Given the description of an element on the screen output the (x, y) to click on. 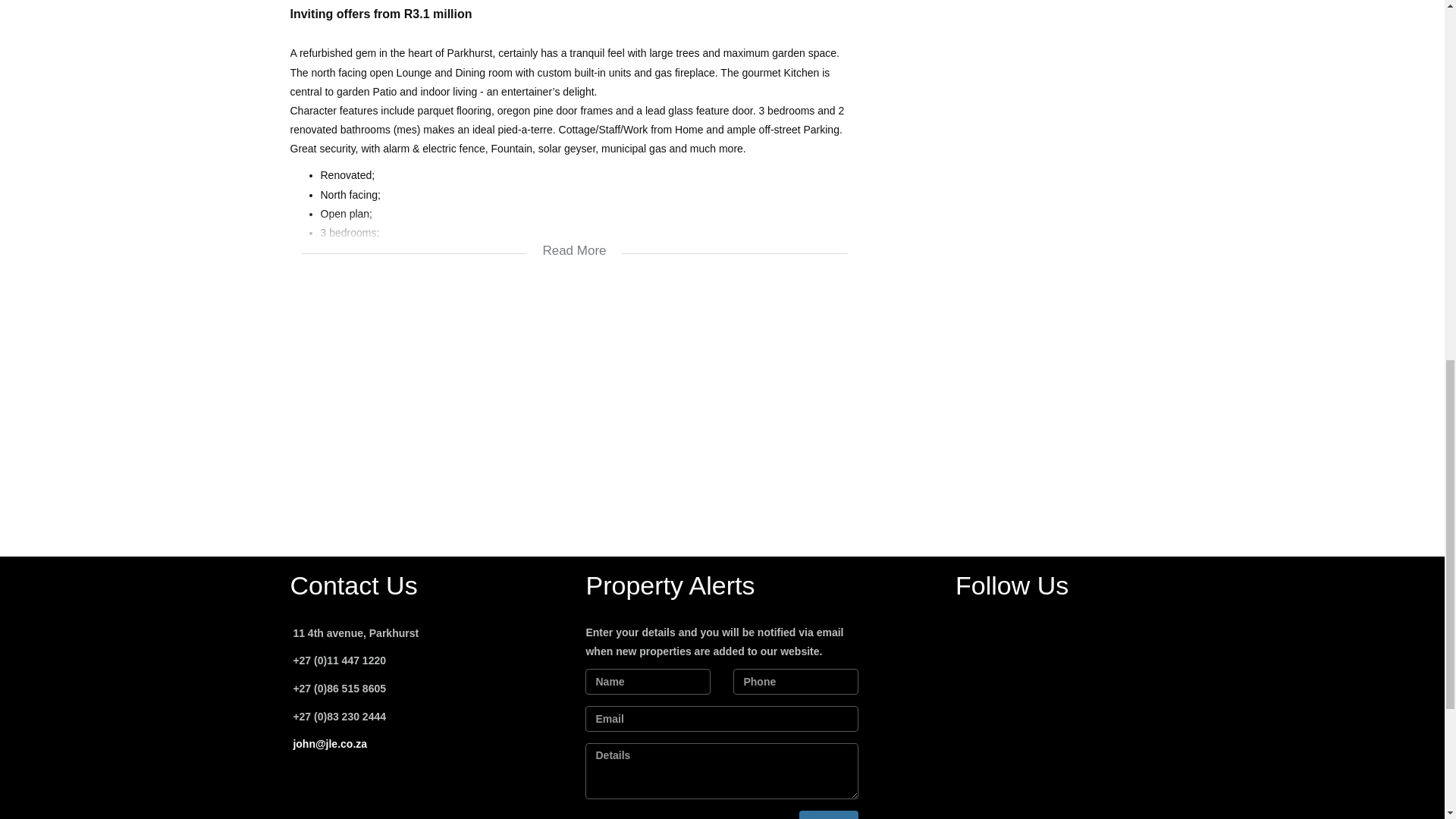
Read More (574, 241)
google map (574, 403)
Read More (574, 241)
